Given the description of an element on the screen output the (x, y) to click on. 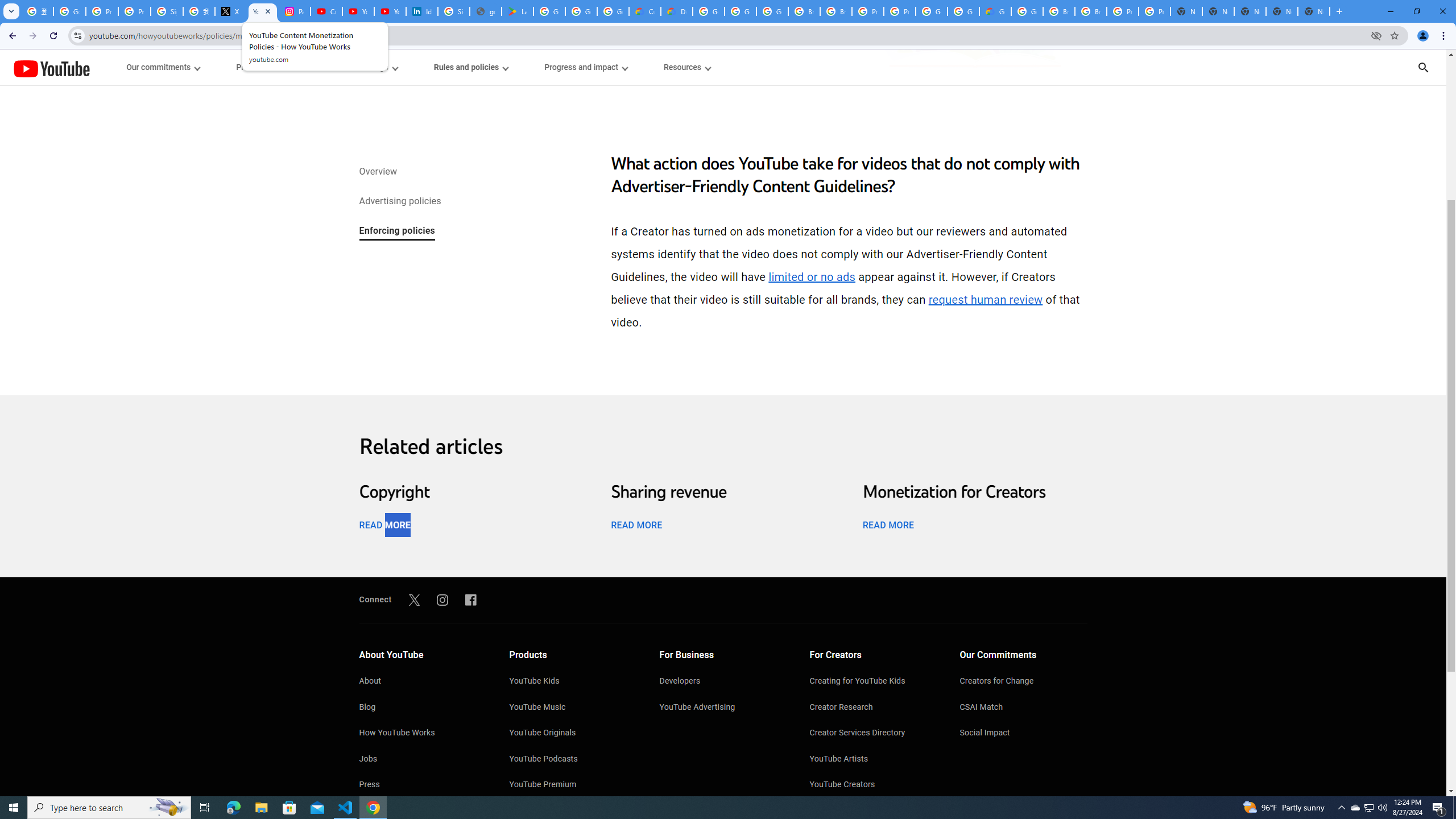
New Tab (1313, 11)
YouTube Podcasts (573, 759)
Instagram (442, 599)
New Tab (1338, 11)
YouTube Artists (873, 759)
YouTube Premium (573, 785)
YouTube Kids (573, 682)
YouTube Originals (573, 733)
YouTube Music (573, 708)
Chrome (1445, 35)
